Given the description of an element on the screen output the (x, y) to click on. 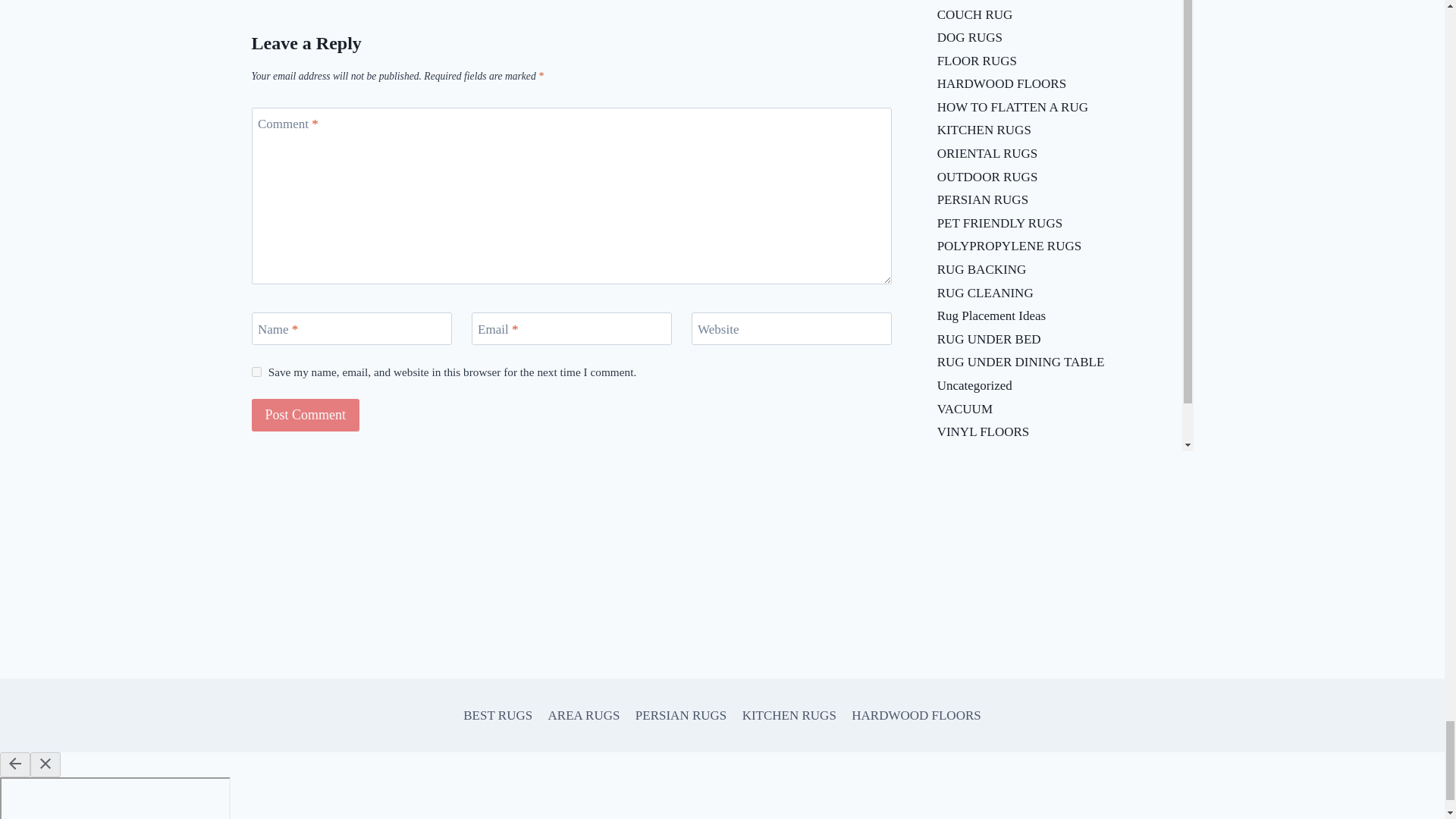
Post Comment (305, 414)
yes (256, 371)
